Given the description of an element on the screen output the (x, y) to click on. 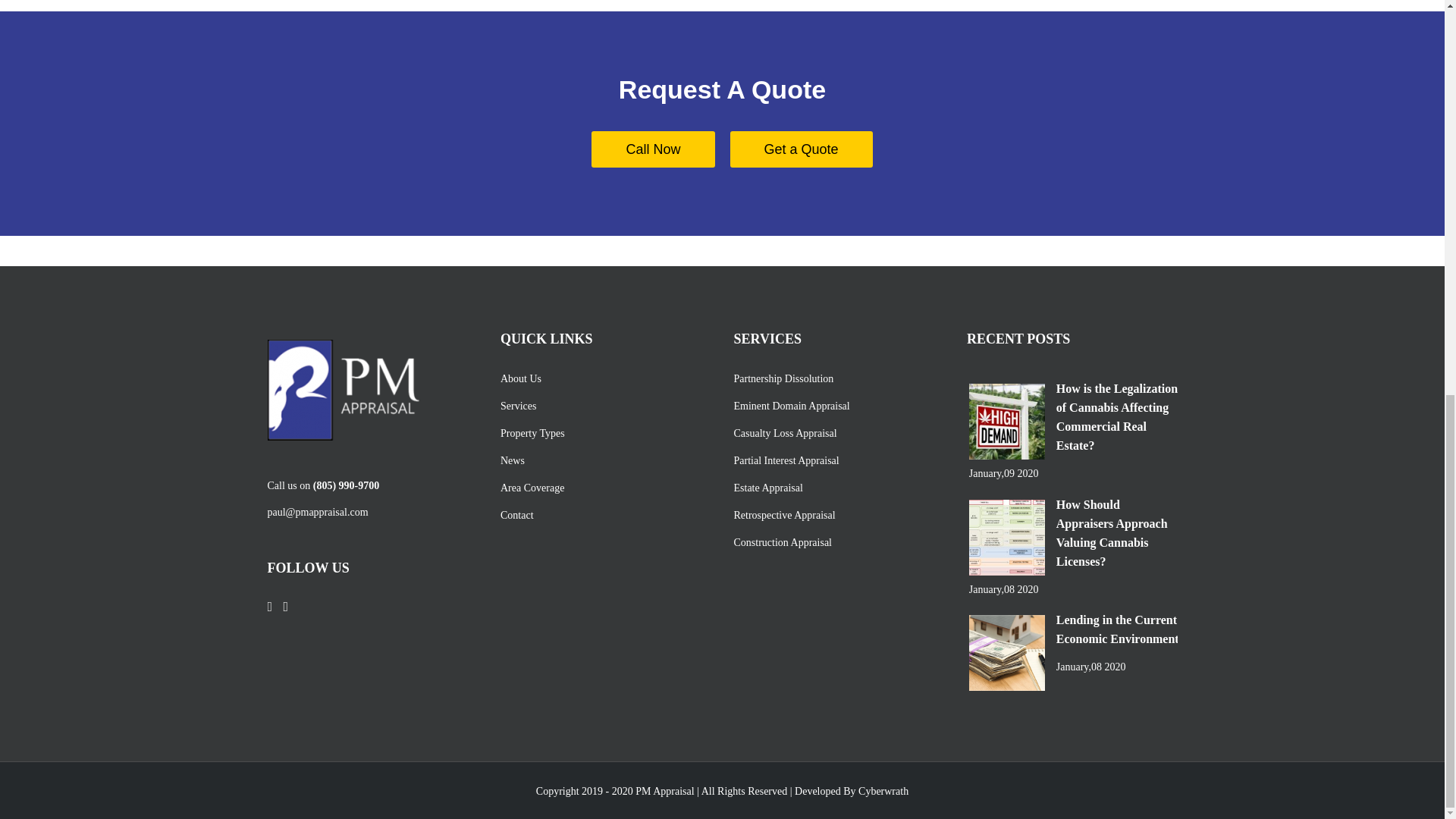
Partnership Dissolution (835, 378)
Get a Quote (800, 149)
Area Coverage (601, 487)
News (601, 460)
Eminent Domain Appraisal (835, 406)
Contact (601, 514)
Property Types (601, 433)
Retrospective Appraisal (835, 514)
Services (601, 406)
Casualty Loss Appraisal (835, 433)
Call Now (652, 149)
Partial Interest Appraisal (835, 460)
About Us (601, 378)
Construction Appraisal (835, 542)
Estate Appraisal (835, 487)
